Given the description of an element on the screen output the (x, y) to click on. 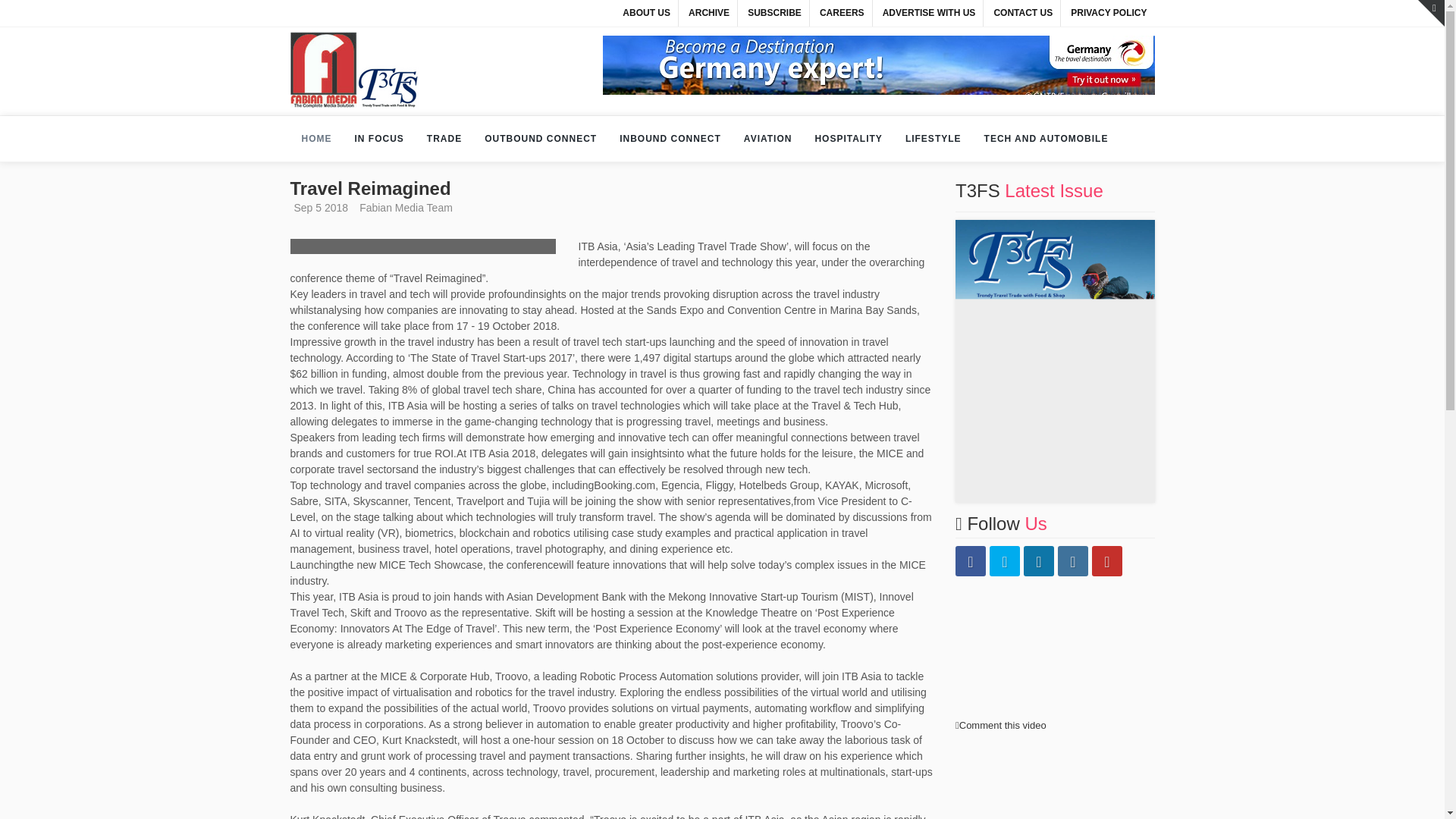
OUTBOUND CONNECT (540, 138)
IN FOCUS (378, 138)
AVIATION (767, 138)
Comment this video (1002, 725)
PRIVACY POLICY (1108, 13)
Linkedin (1038, 561)
HOSPITALITY (848, 138)
ARCHIVE (708, 13)
Latest Issue (1053, 190)
Twitter (1005, 561)
HOME (315, 138)
Sep 5 2018 (318, 207)
Facebook (970, 561)
LIFESTYLE (932, 138)
Fabian Media Team (403, 207)
